Given the description of an element on the screen output the (x, y) to click on. 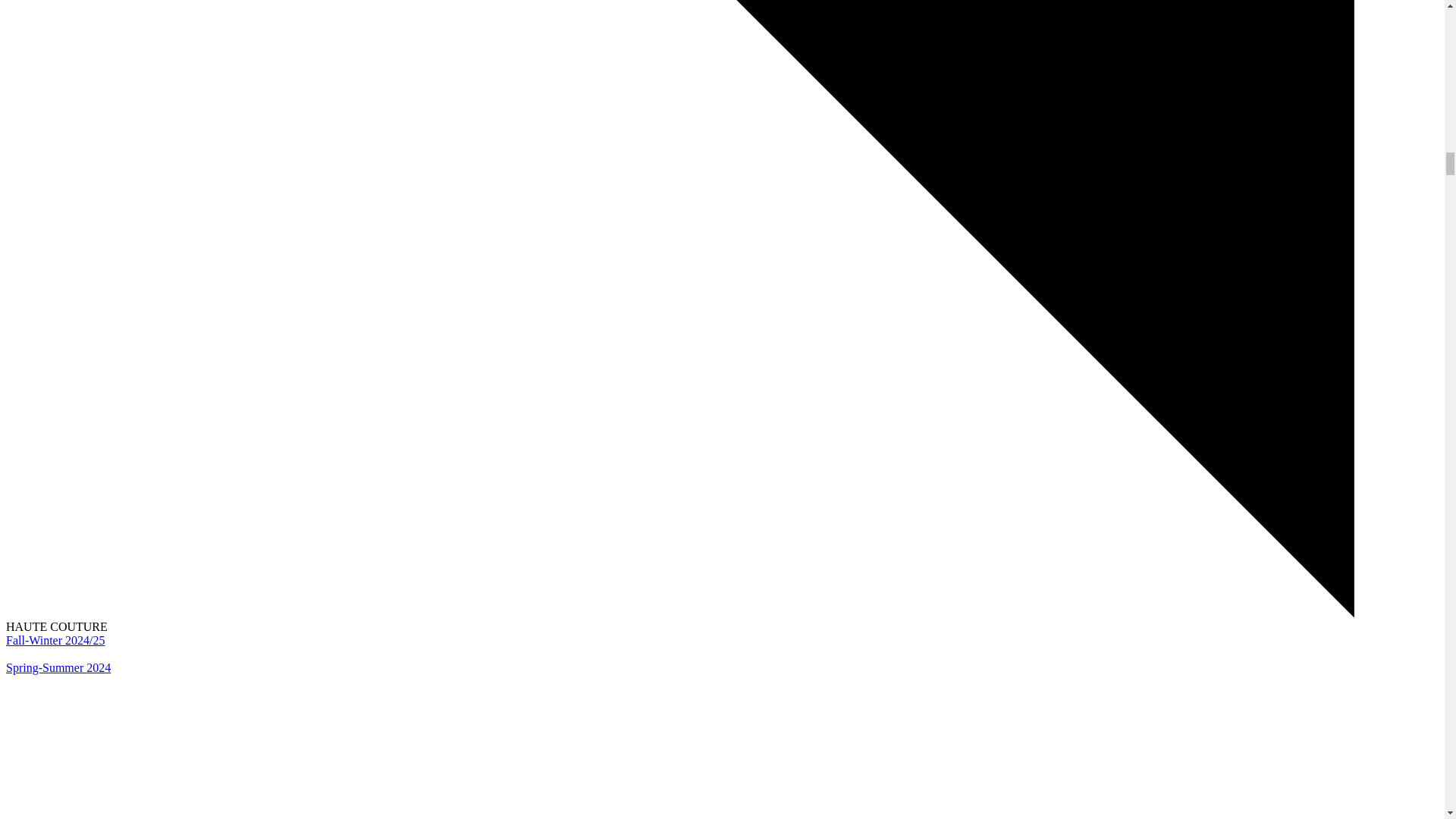
Spring-Summer 2024 (57, 667)
